Given the description of an element on the screen output the (x, y) to click on. 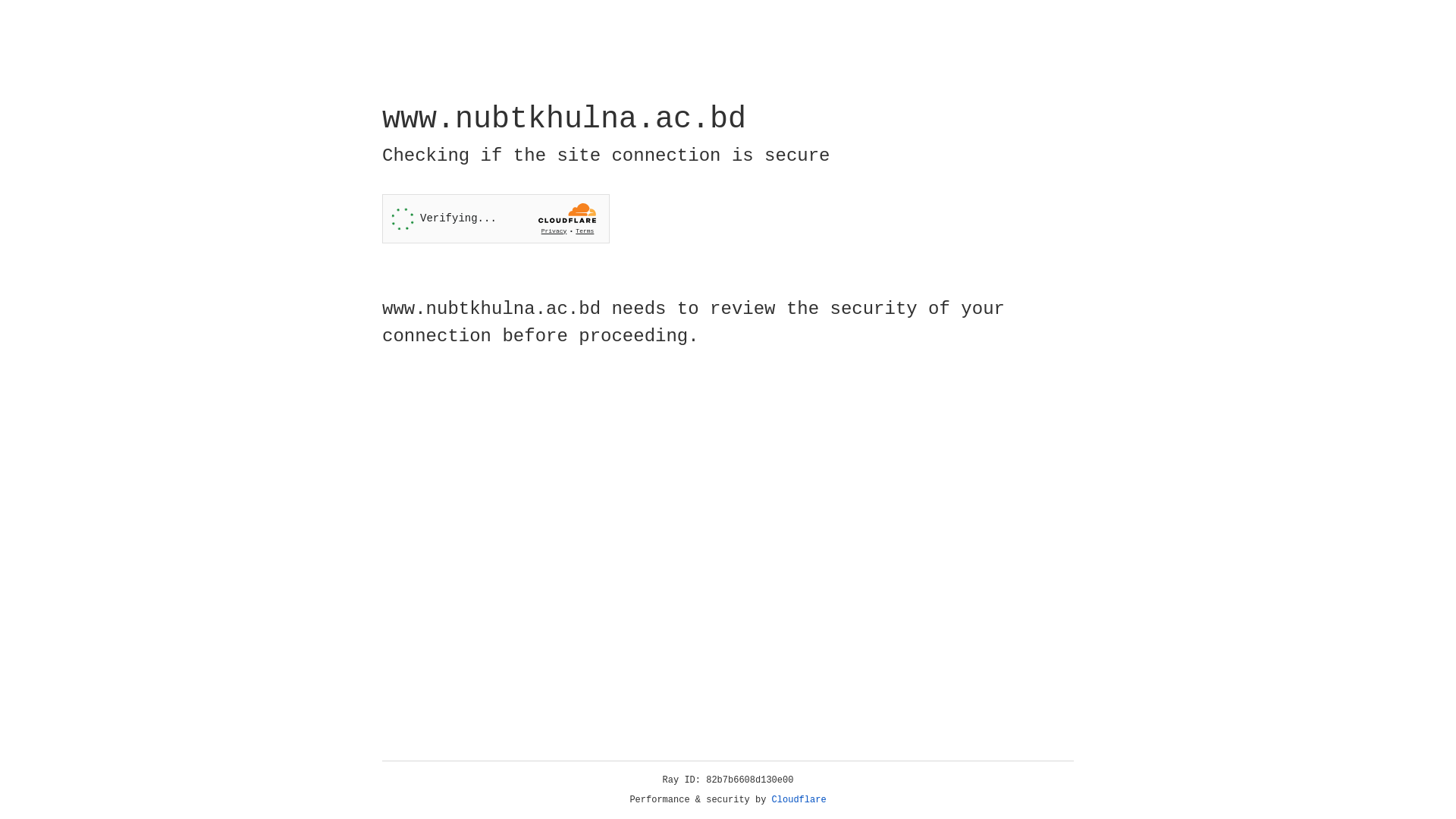
Widget containing a Cloudflare security challenge Element type: hover (495, 218)
Cloudflare Element type: text (798, 799)
